Given the description of an element on the screen output the (x, y) to click on. 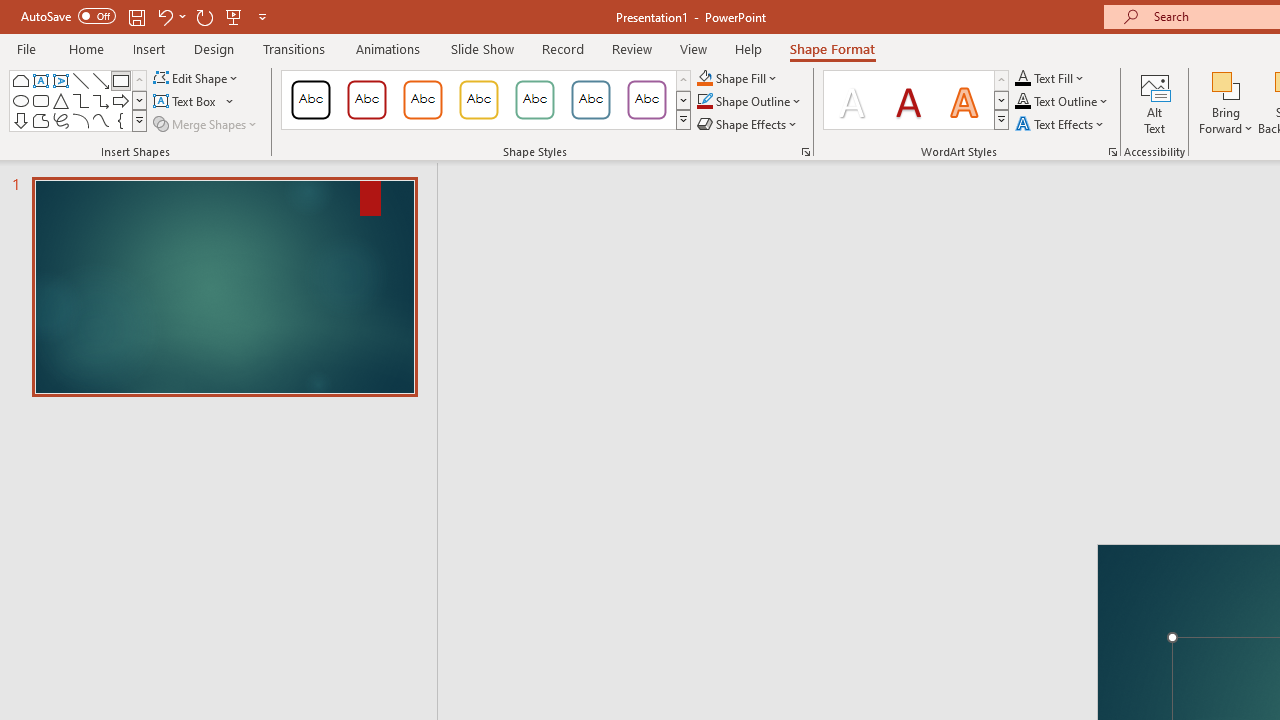
Draw Horizontal Text Box (185, 101)
Fill: Dark Red, Accent color 1; Shadow (908, 100)
Colored Outline - Purple, Accent 6 (646, 100)
Colored Outline - Blue-Gray, Accent 5 (591, 100)
Colored Outline - Dark Red, Accent 1 (367, 100)
Colored Outline - Green, Accent 4 (534, 100)
Colored Outline - Black, Dark 1 (310, 100)
